Given the description of an element on the screen output the (x, y) to click on. 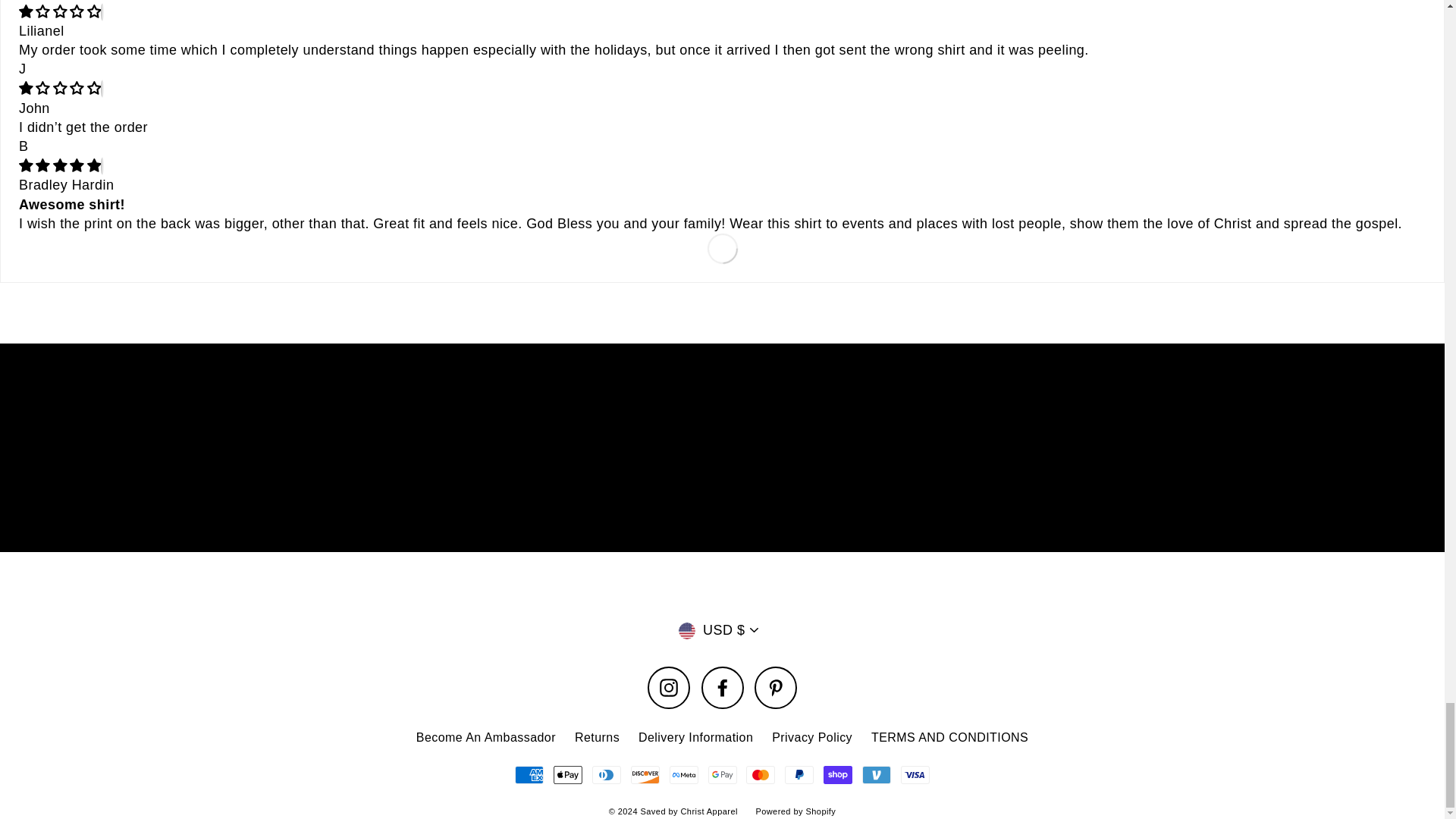
PayPal (798, 774)
Mastercard (759, 774)
Discover (644, 774)
American Express (529, 774)
Diners Club (606, 774)
Shop Pay (837, 774)
Meta Pay (683, 774)
Saved by Christ Apparel on Instagram (668, 687)
Visa (915, 774)
Saved by Christ Apparel on Facebook (721, 687)
